Given the description of an element on the screen output the (x, y) to click on. 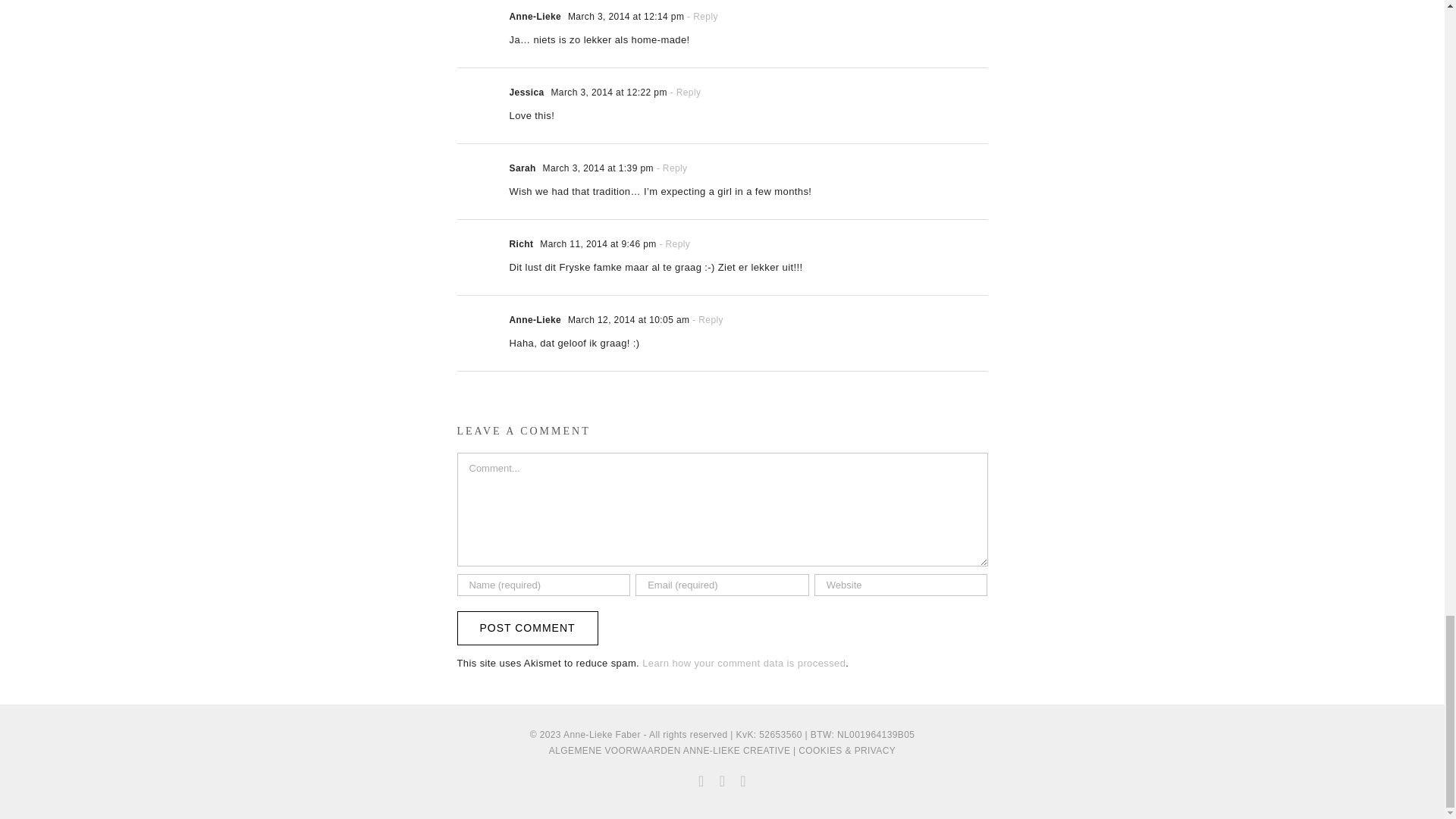
- Reply (670, 167)
- Reply (683, 91)
Post Comment (526, 627)
Learn how your comment data is processed (743, 663)
- Reply (705, 319)
Post Comment (526, 627)
ALGEMENE VOORWAARDEN ANNE-LIEKE CREATIVE (669, 750)
- Reply (673, 244)
- Reply (700, 16)
